Given the description of an element on the screen output the (x, y) to click on. 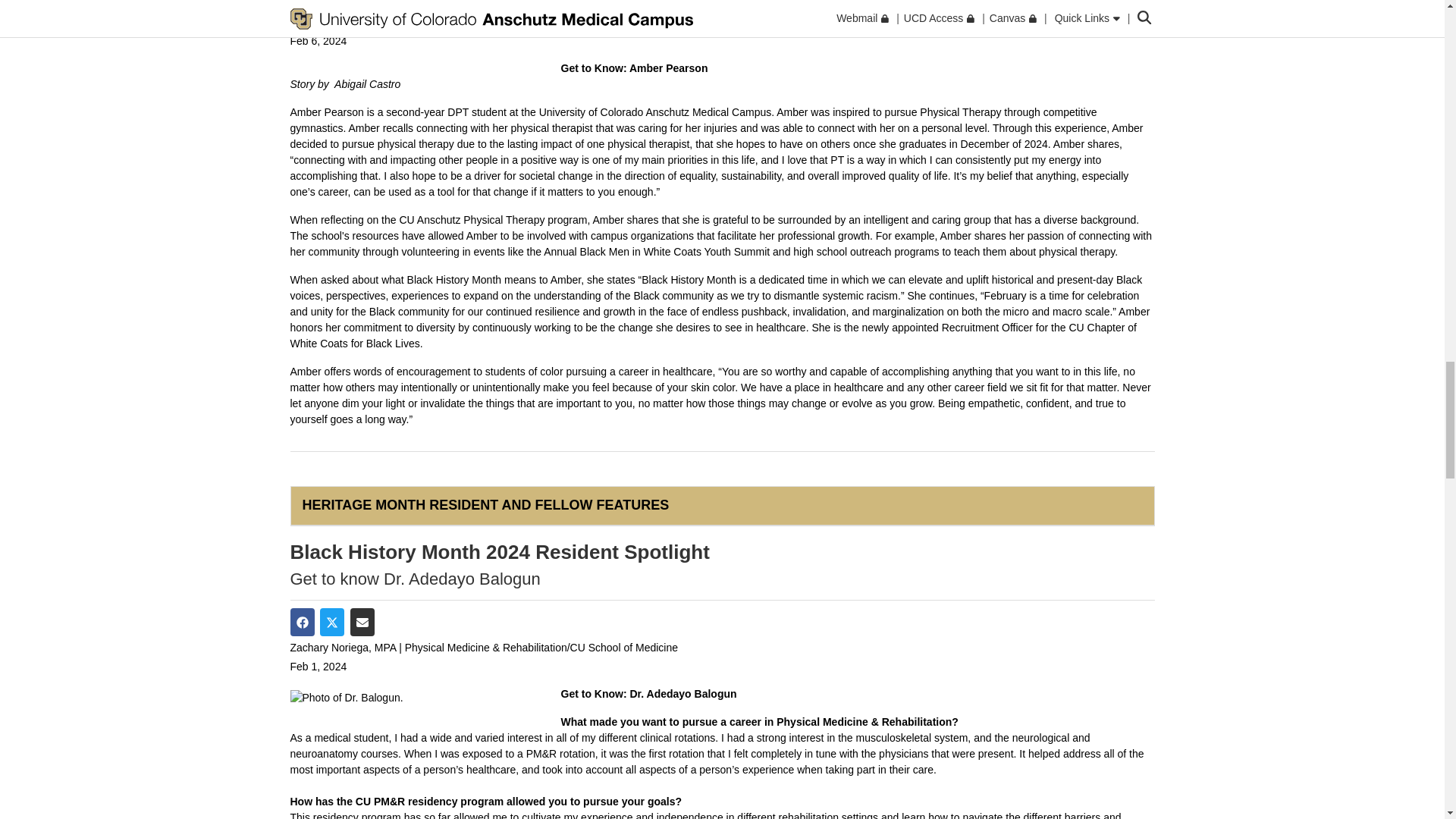
Dr Balogun Cropped Photo (418, 697)
